Given the description of an element on the screen output the (x, y) to click on. 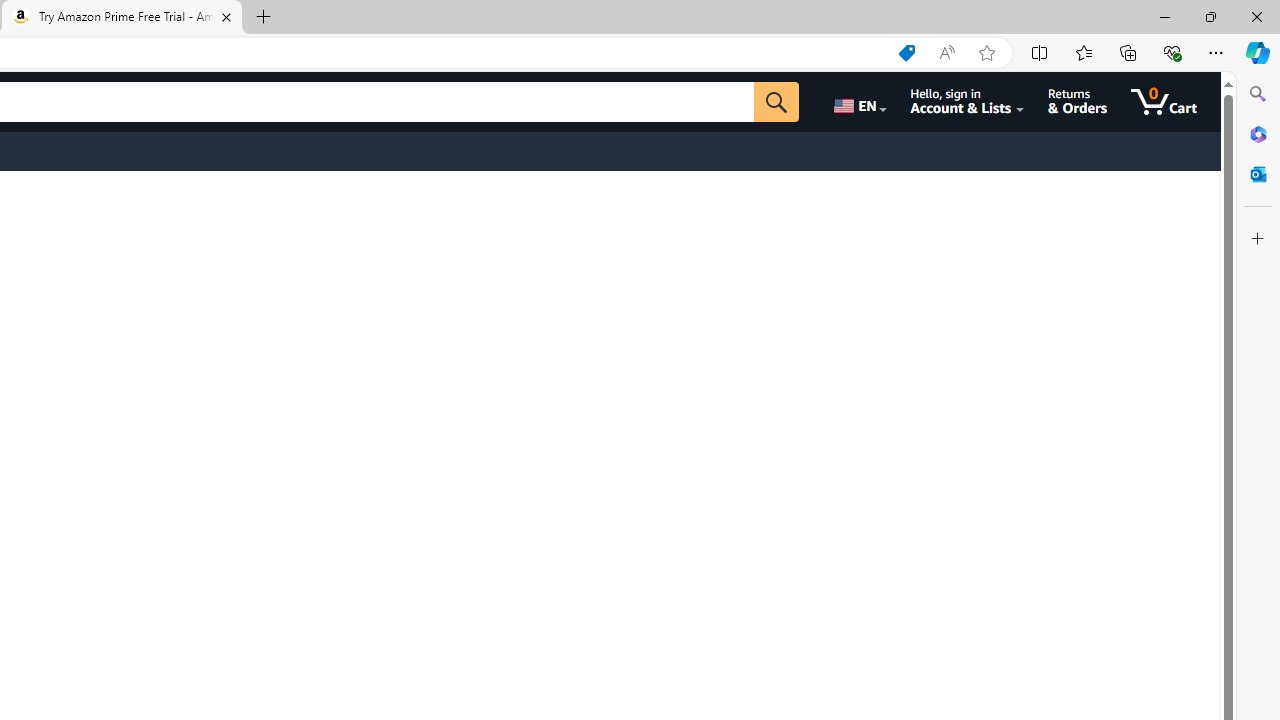
Returns & Orders (1077, 101)
Hello, sign in Account & Lists (967, 101)
